Given the description of an element on the screen output the (x, y) to click on. 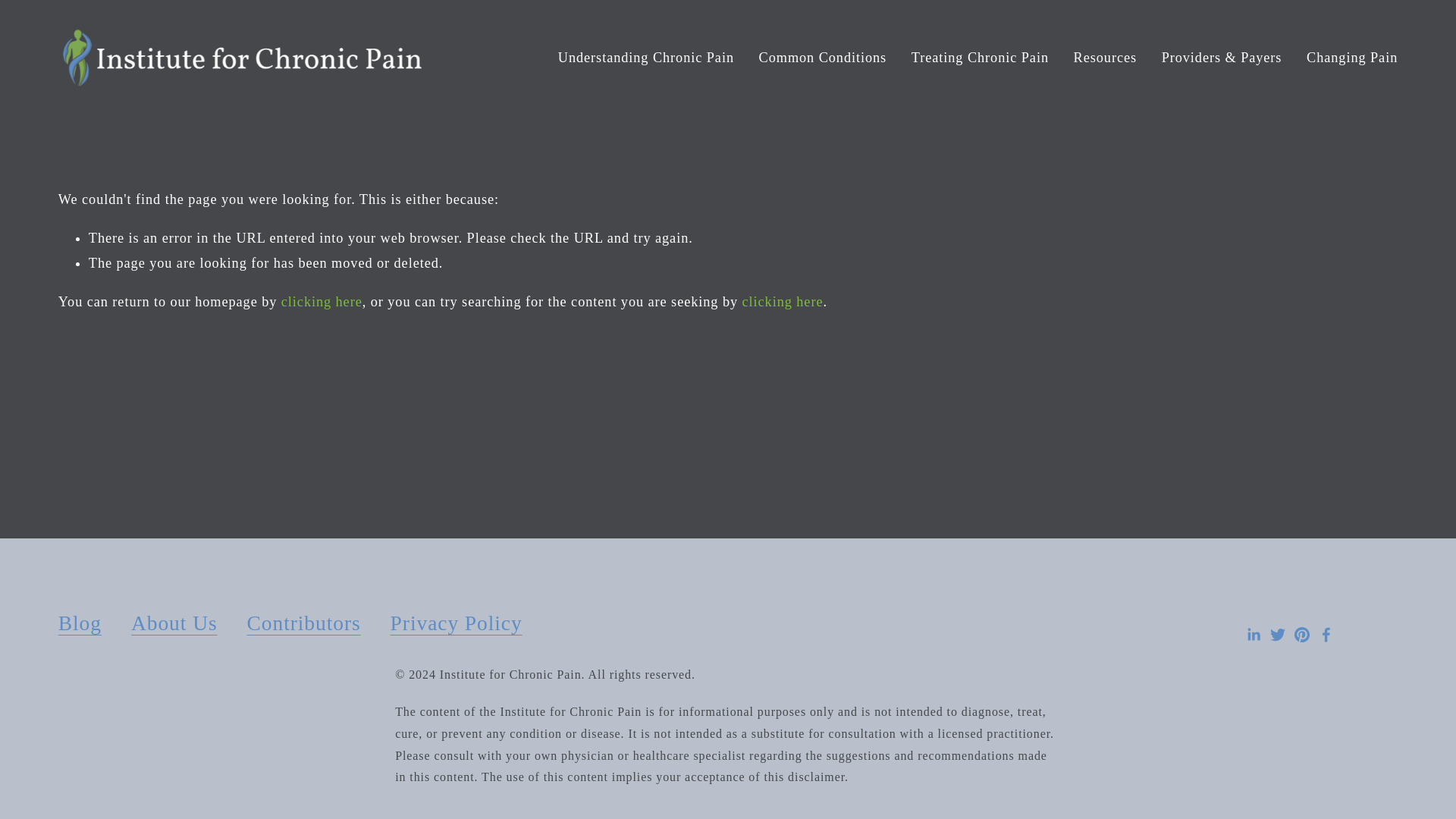
Treating Chronic Pain (979, 58)
Common Conditions (822, 58)
Understanding Chronic Pain (645, 58)
